Given the description of an element on the screen output the (x, y) to click on. 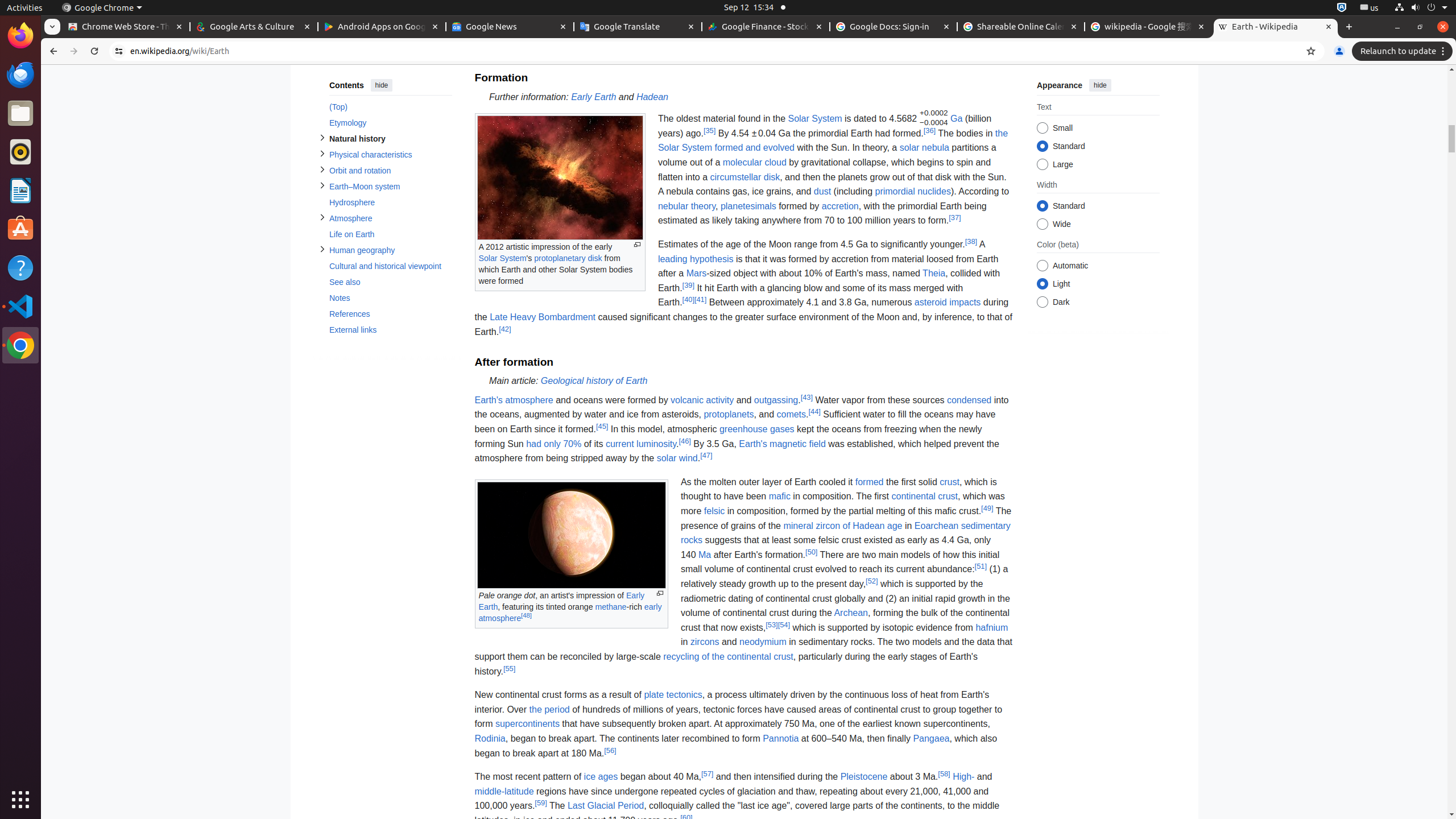
Files Element type: push-button (20, 113)
Wide Element type: radio-button (1042, 224)
Theia Element type: link (933, 273)
supercontinents Element type: link (526, 723)
Light Element type: radio-button (1042, 284)
